Given the description of an element on the screen output the (x, y) to click on. 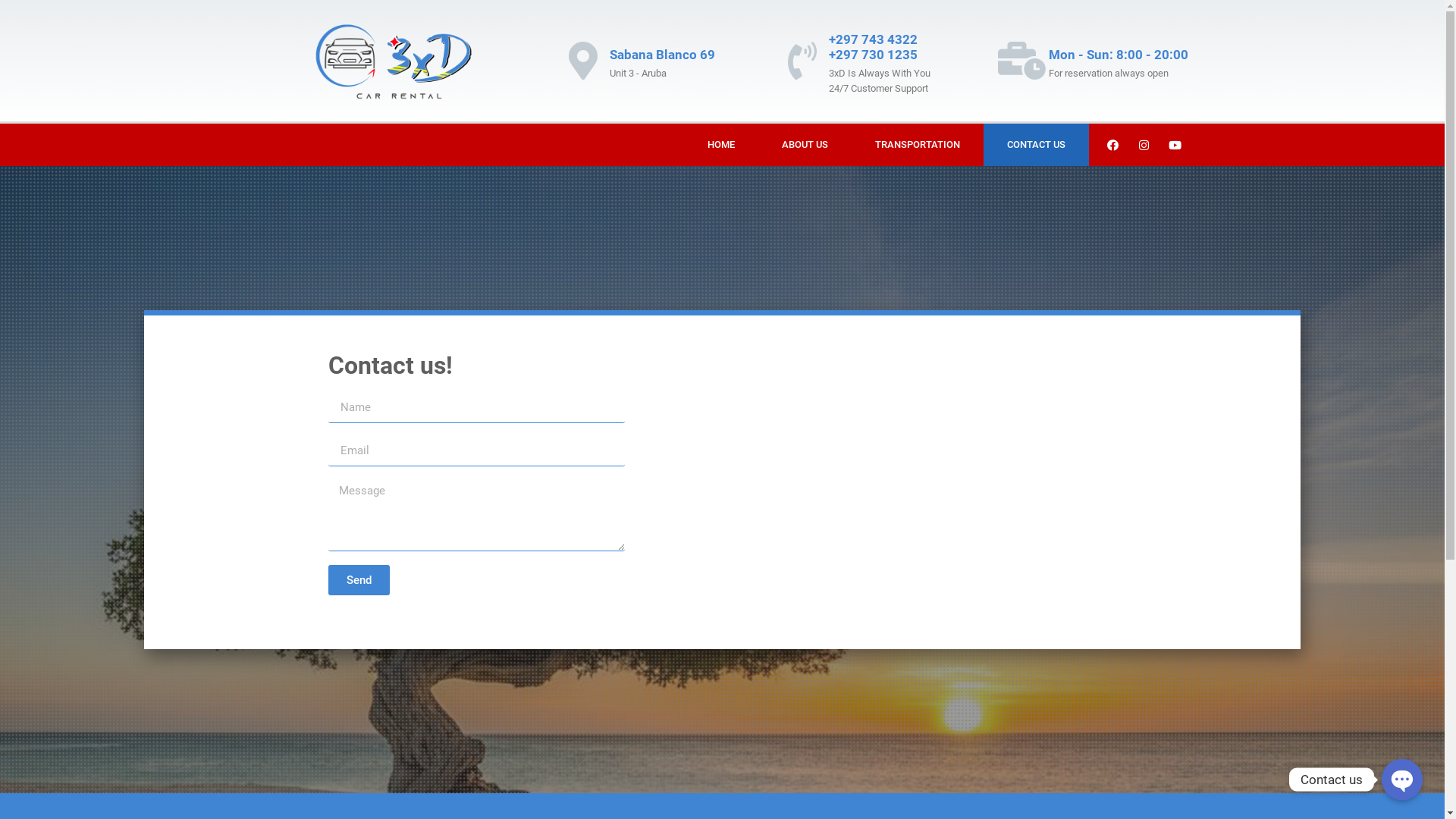
Send Element type: text (358, 579)
3xd car rental Element type: hover (893, 504)
HOME Element type: text (721, 144)
Sabana Blanco 69 Element type: text (662, 54)
CONTACT US Element type: text (1035, 144)
TRANSPORTATION Element type: text (917, 144)
ABOUT US Element type: text (804, 144)
